Given the description of an element on the screen output the (x, y) to click on. 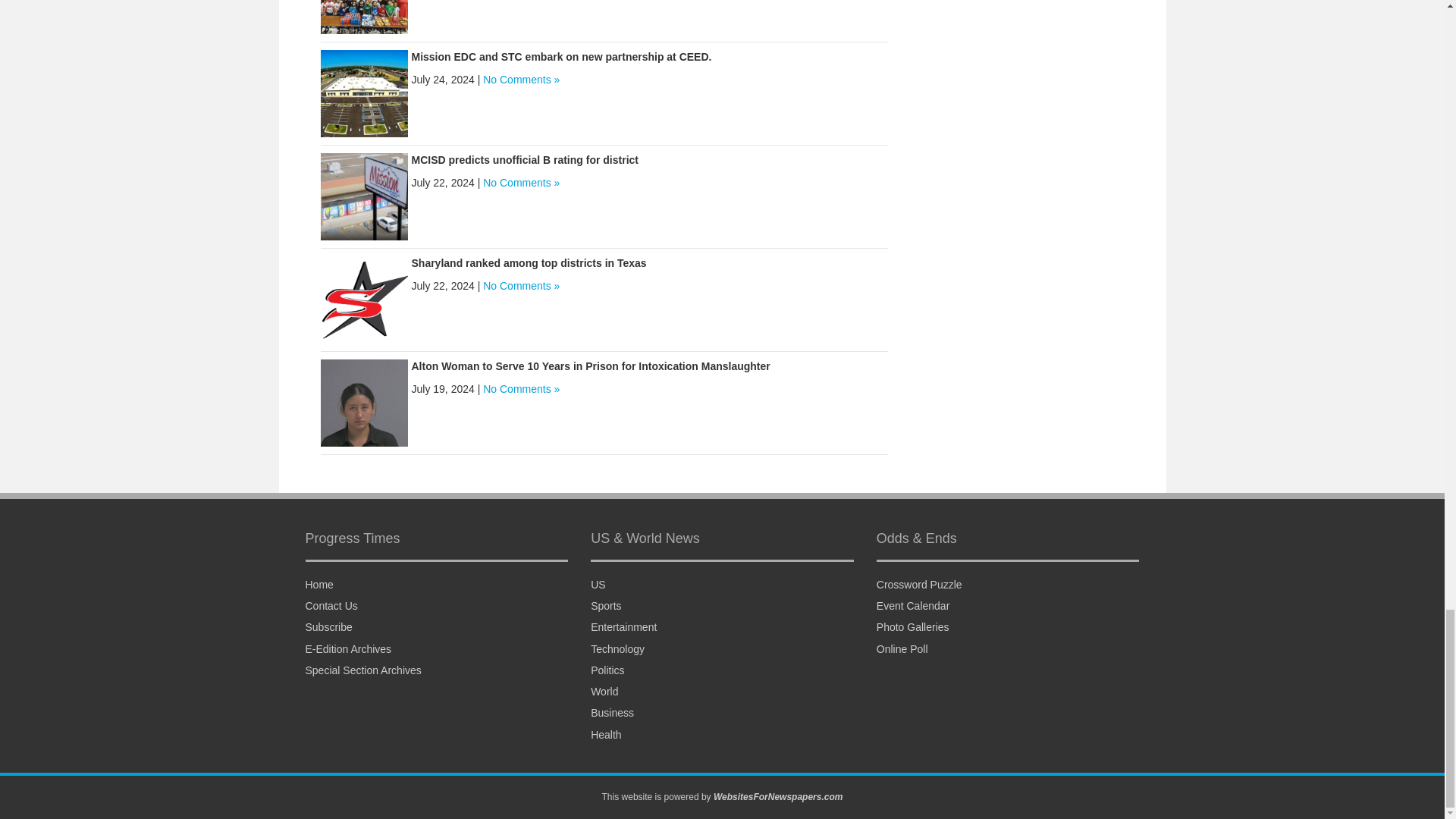
MCISD predicts unofficial B rating for district (523, 159)
MCISD predicts unofficial B rating for district (363, 195)
Mission EDC and STC embark on new partnership at CEED. (560, 55)
Mission EDC and STC embark on new partnership at CEED. (363, 92)
